Given the description of an element on the screen output the (x, y) to click on. 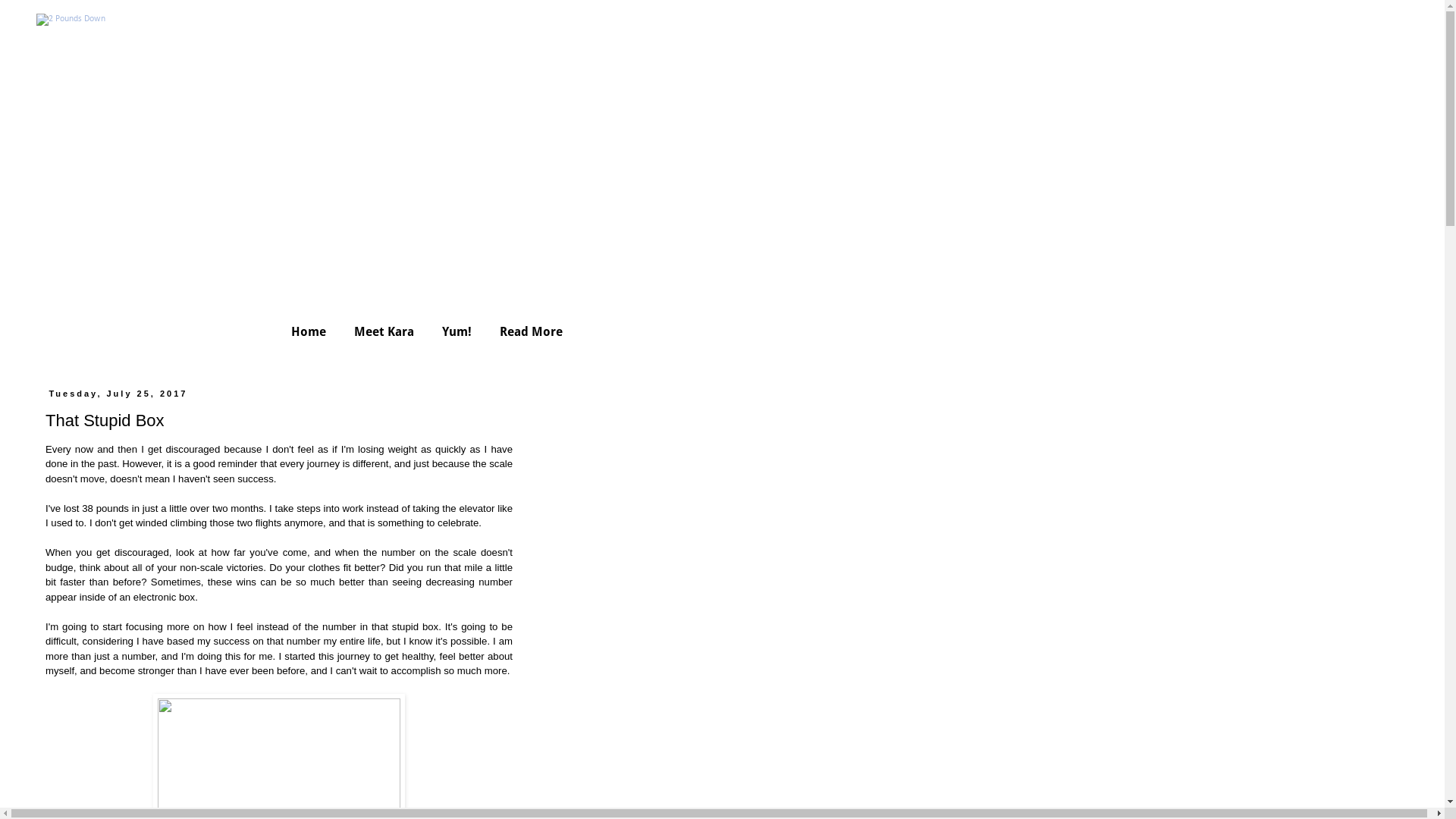
Home Element type: text (308, 330)
Yum! Element type: text (456, 330)
Read More Element type: text (530, 330)
Meet Kara Element type: text (383, 330)
